Given the description of an element on the screen output the (x, y) to click on. 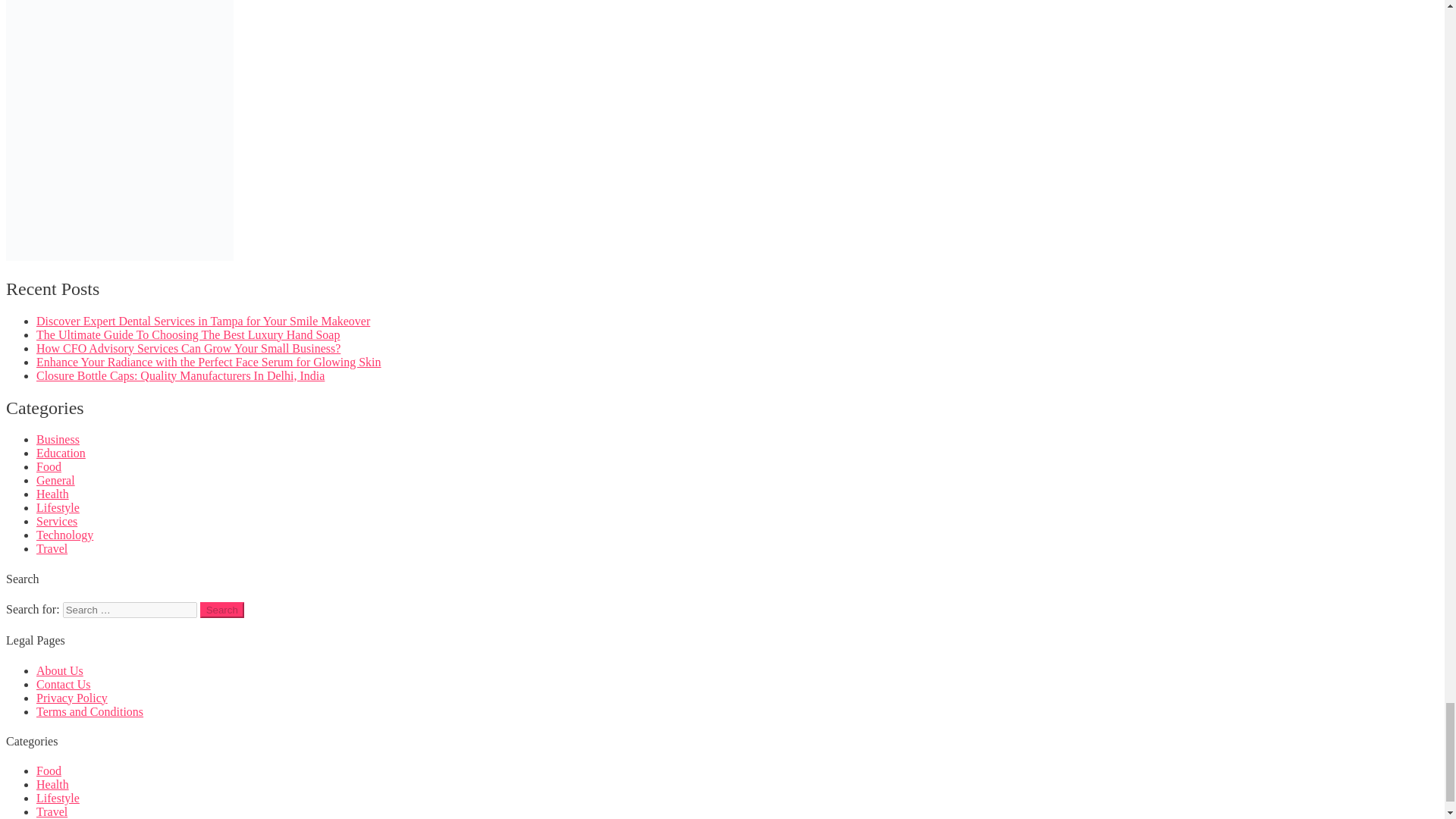
Search (222, 609)
Search (222, 609)
The Ultimate Guide To Choosing The Best Luxury Hand Soap (187, 334)
